Given the description of an element on the screen output the (x, y) to click on. 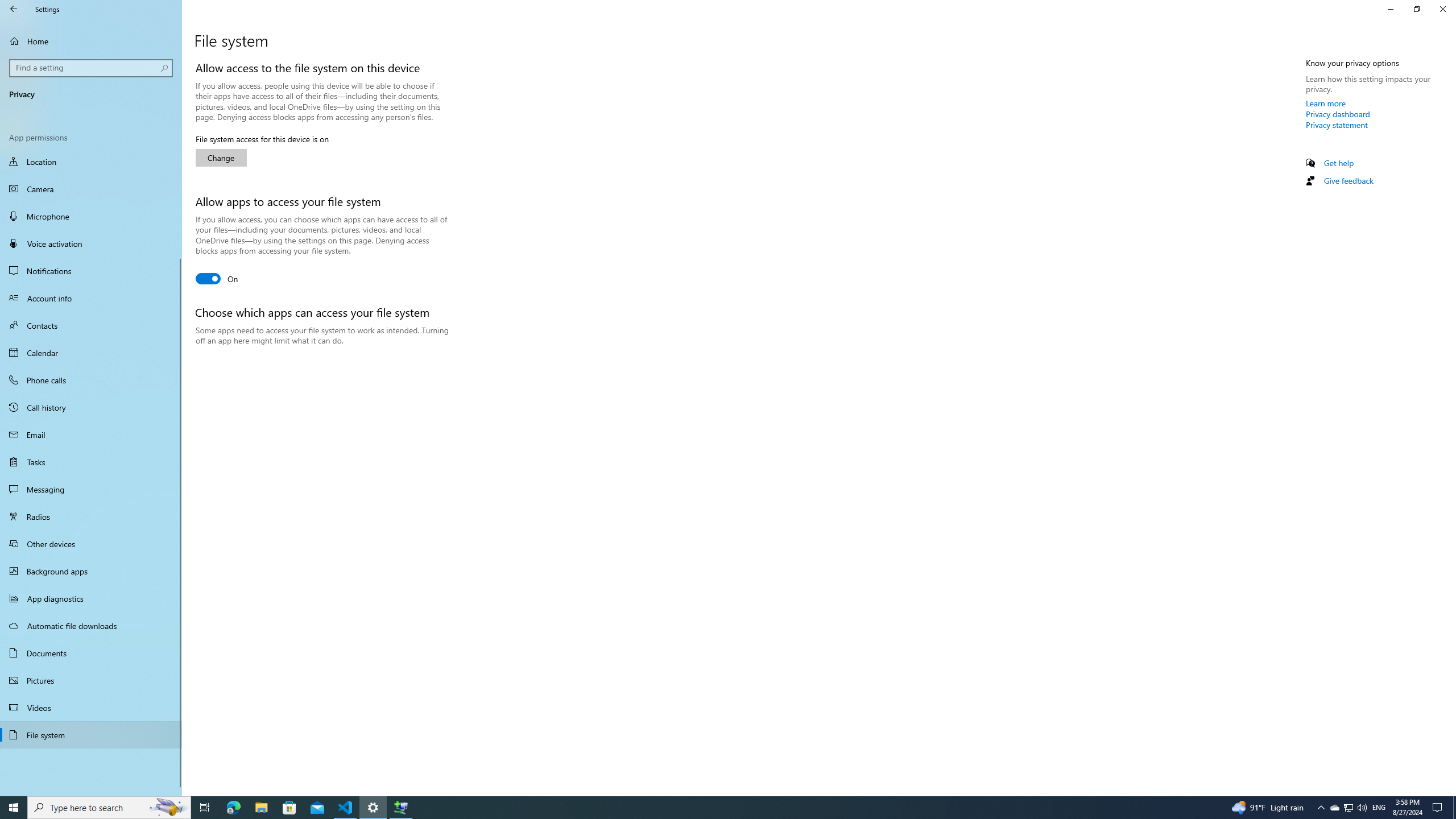
App diagnostics (91, 597)
Give feedback (1348, 180)
Email (91, 433)
Tasks (91, 461)
Documents (91, 652)
